Given the description of an element on the screen output the (x, y) to click on. 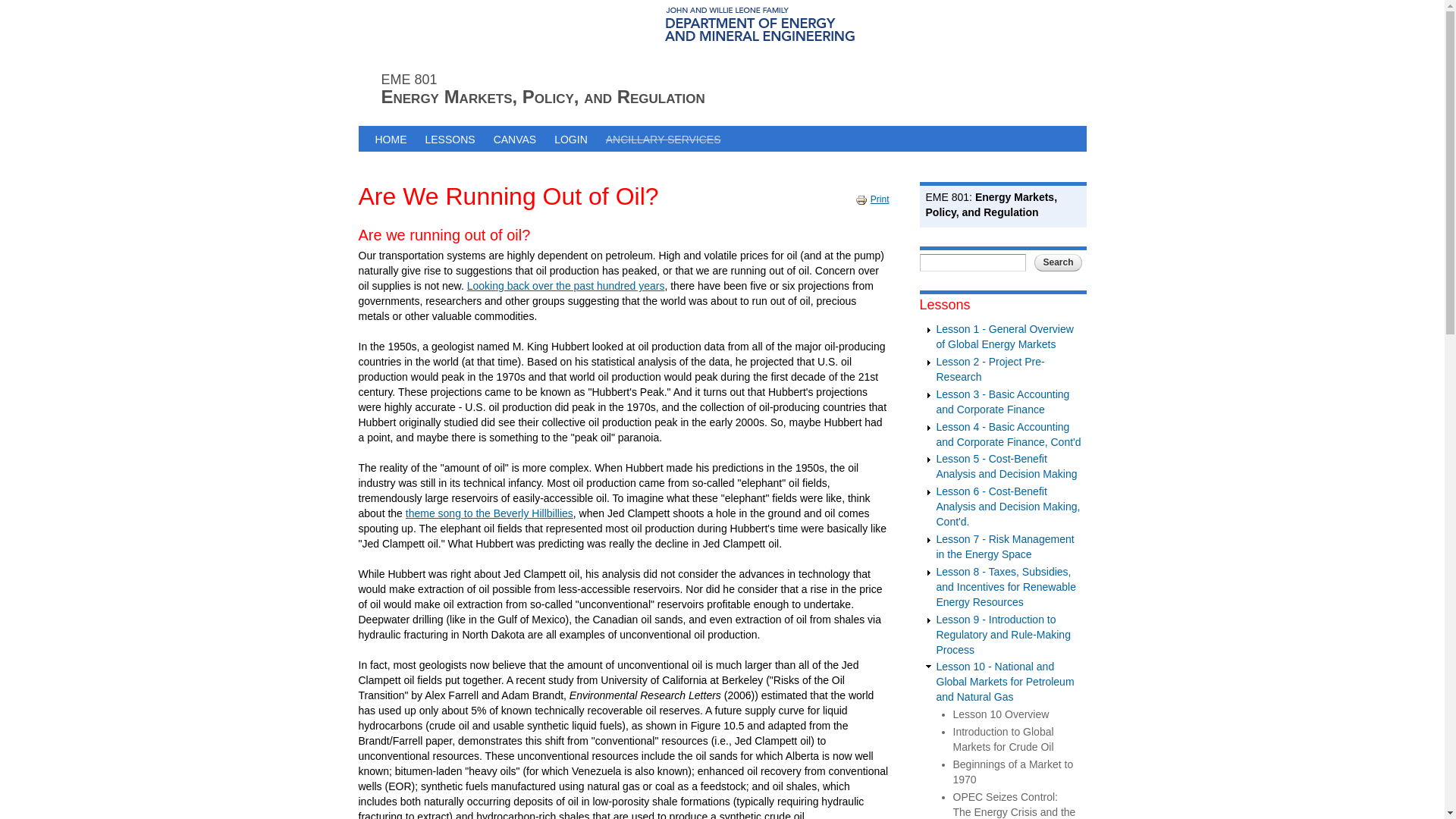
Print (863, 200)
Lesson 10 Overview (1000, 714)
HOME (389, 138)
Beginnings of a Market to 1970 (1012, 771)
Introduction to Global Markets for Crude Oil (1002, 738)
CANVAS (515, 138)
Search (1057, 262)
Lesson 4 - Basic Accounting and Corporate Finance, Cont'd (1008, 433)
